Given the description of an element on the screen output the (x, y) to click on. 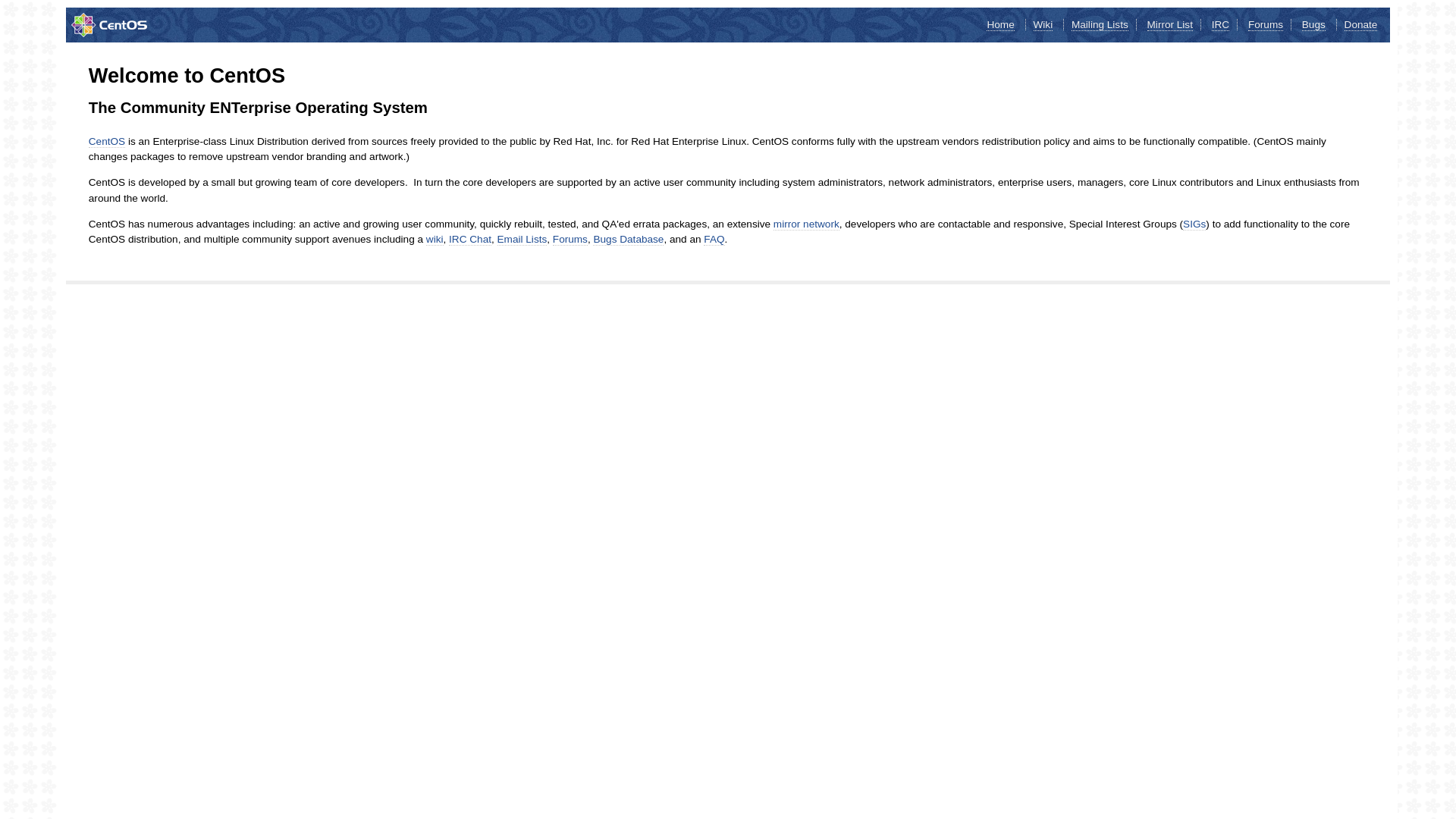
Mirror List Element type: text (1169, 24)
IRC Chat Element type: text (469, 239)
Email Lists Element type: text (522, 239)
CentOS Element type: text (106, 141)
Mailing Lists Element type: text (1099, 24)
SIGs Element type: text (1194, 224)
mirror network Element type: text (806, 224)
Bugs Element type: text (1313, 24)
FAQ Element type: text (713, 239)
IRC Element type: text (1220, 24)
Forums Element type: text (569, 239)
Forums Element type: text (1265, 24)
Bugs Database Element type: text (628, 239)
wiki Element type: text (434, 239)
Donate Element type: text (1360, 24)
Wiki Element type: text (1042, 24)
Home Element type: text (999, 24)
